Given the description of an element on the screen output the (x, y) to click on. 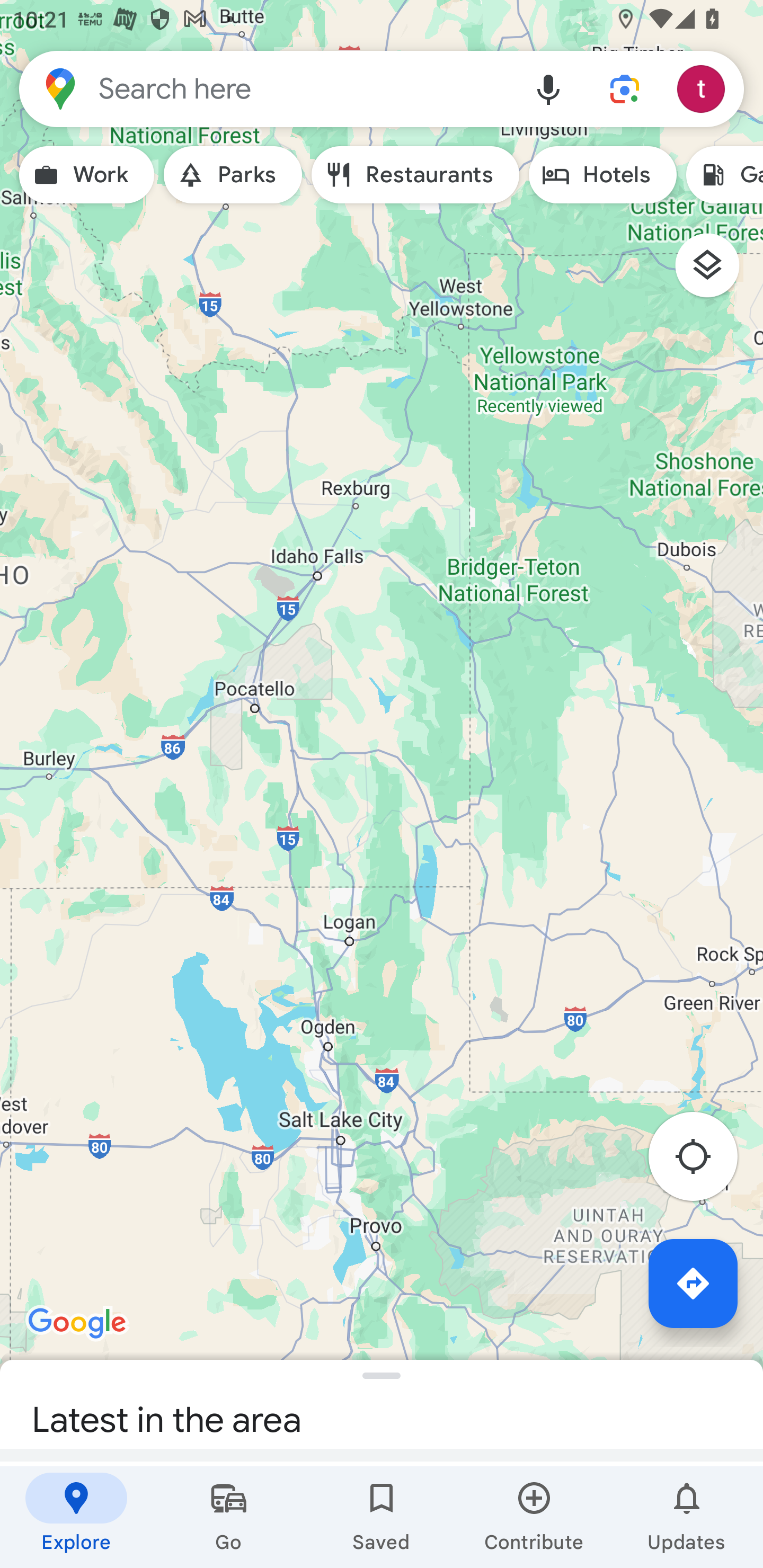
Search here (264, 88)
Voice search (548, 88)
Lens in Maps (624, 88)
Work (86, 174)
Parks Search for Parks (233, 174)
Restaurants Search for Restaurants (415, 174)
Hotels Search for Hotels (602, 174)
Gas Search for Gas (724, 174)
Layers (716, 271)
Re-center map to your location (702, 1161)
Directions (692, 1283)
Go (228, 1517)
Saved (381, 1517)
Contribute (533, 1517)
Updates (686, 1517)
